Given the description of an element on the screen output the (x, y) to click on. 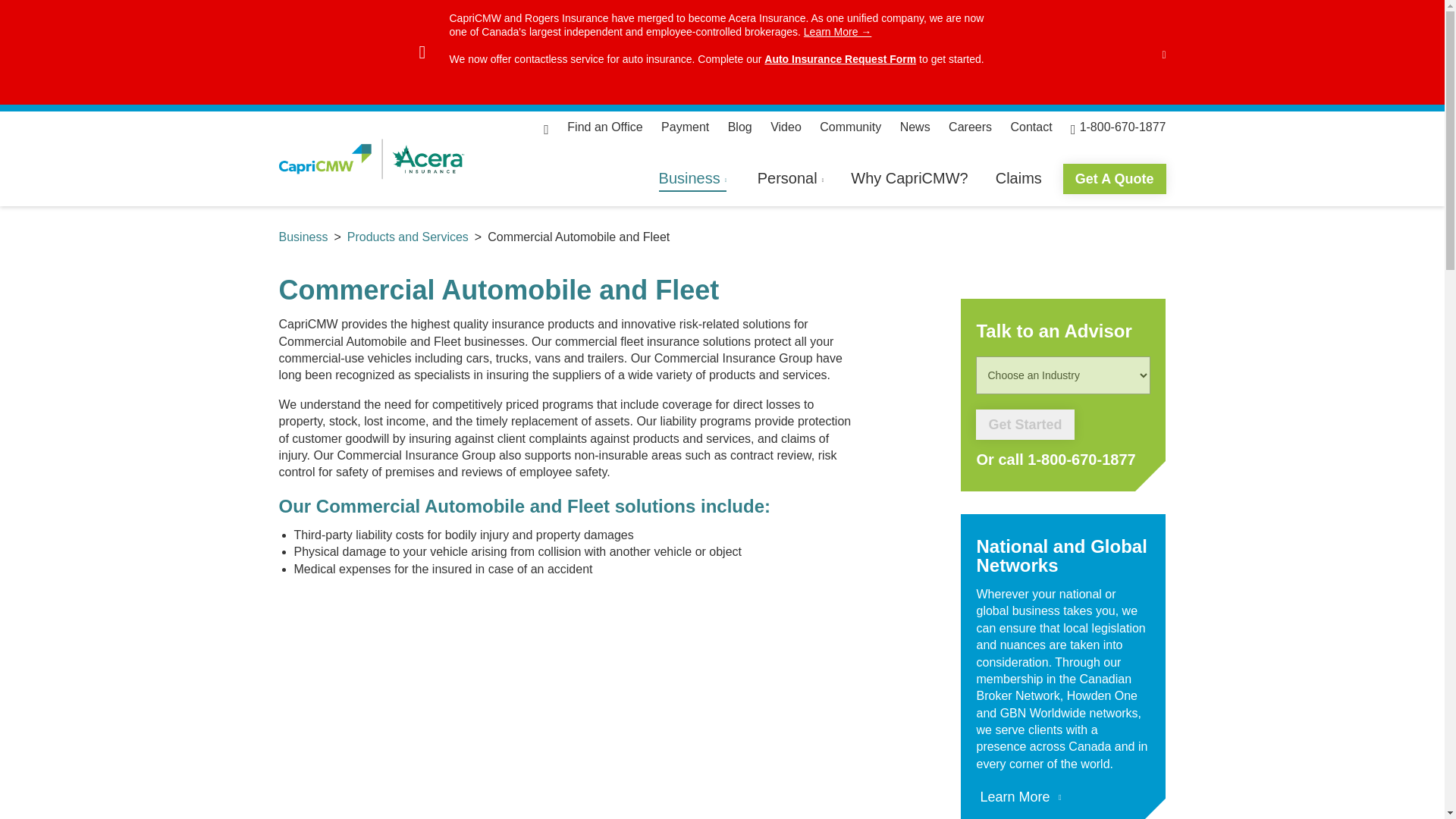
Business (693, 187)
Auto Insurance Request Form (839, 59)
